Given the description of an element on the screen output the (x, y) to click on. 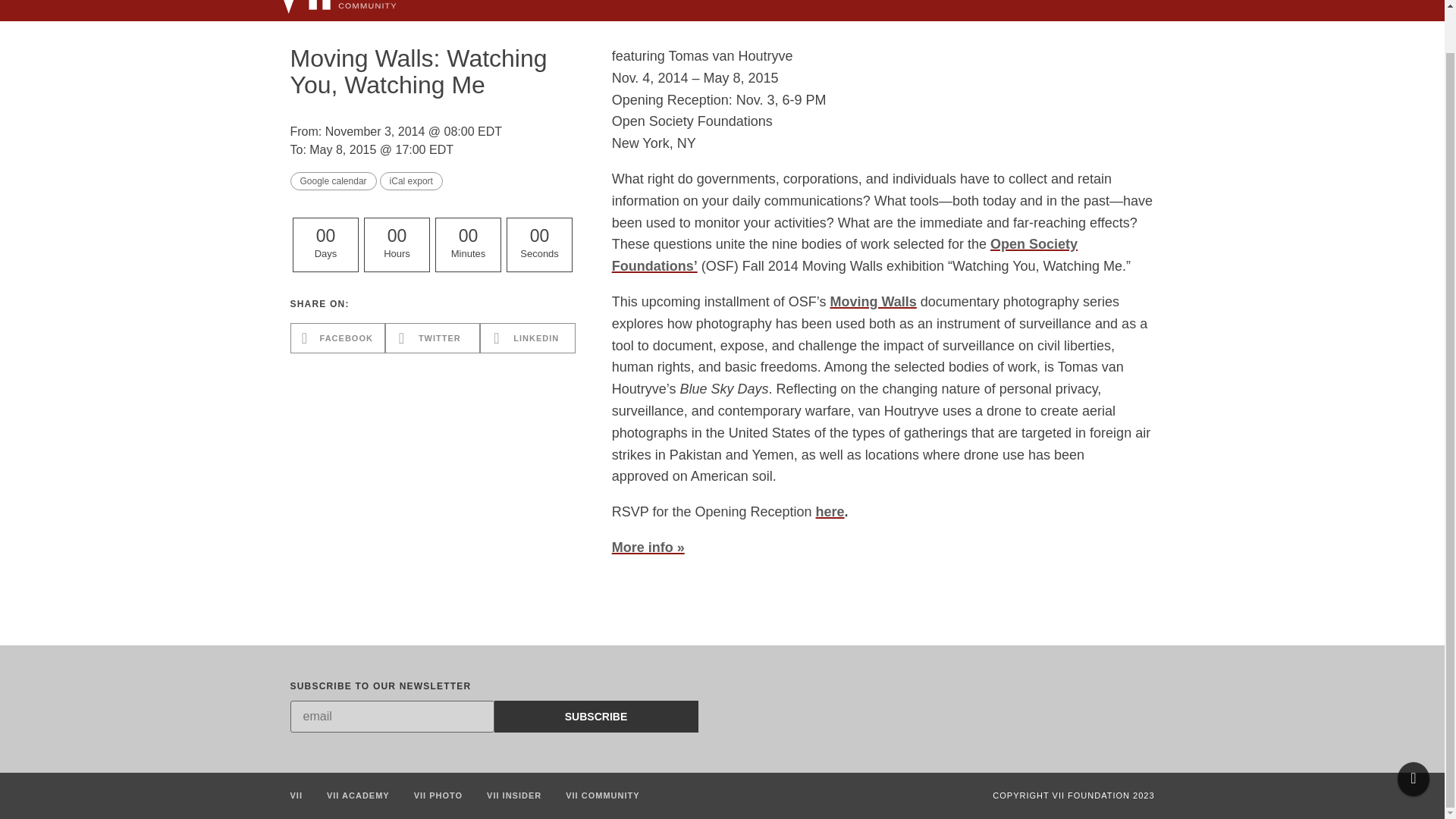
PROJECTS (936, 9)
DONATE (1079, 9)
VII (295, 795)
PORTFOLIOS (849, 9)
VII PHOTO (762, 9)
Export as iCal (411, 180)
iCal export (411, 180)
Moving Walls (872, 301)
Google calendar (332, 180)
SUBSCRIBE (596, 716)
ABOUT (1007, 9)
here (829, 511)
Add to Google Calendar (332, 180)
VII ACADEMY (358, 795)
VII COMMUNITY (602, 795)
